Given the description of an element on the screen output the (x, y) to click on. 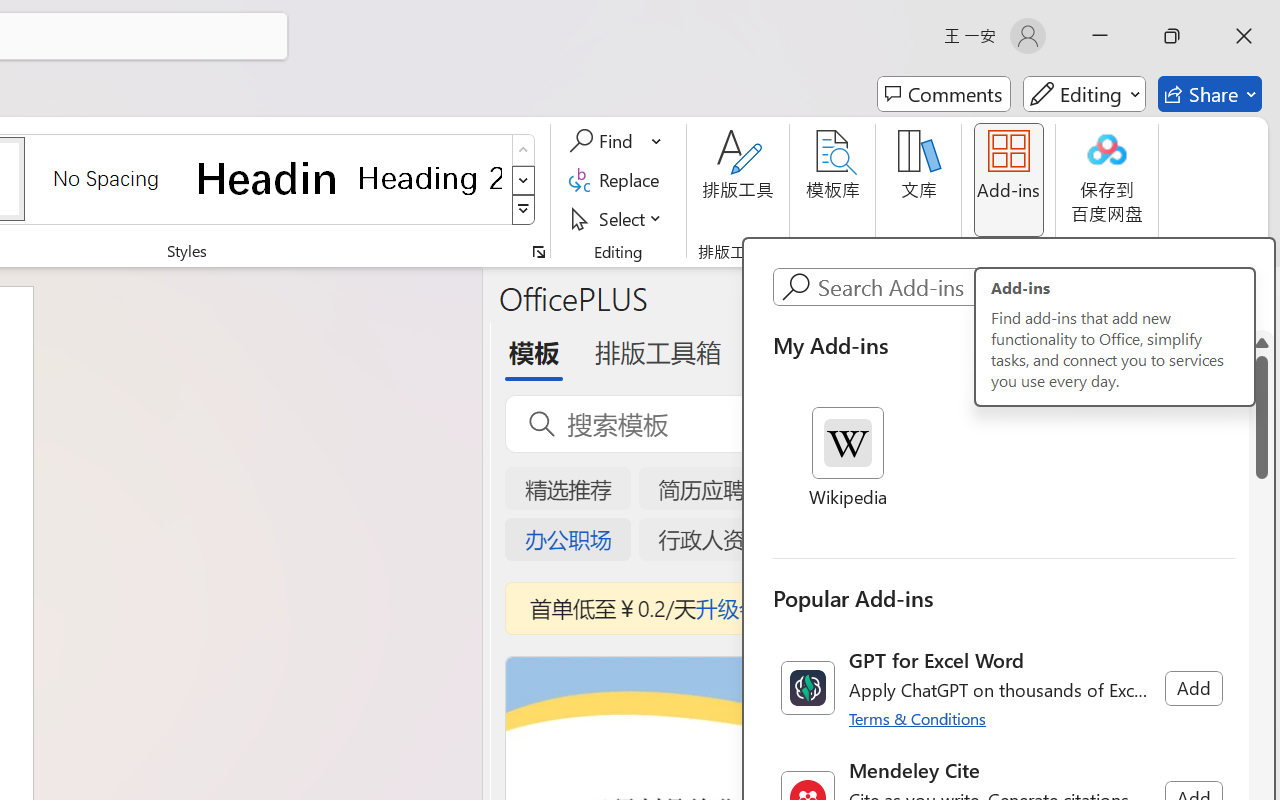
Comments (943, 94)
Find (604, 141)
Mode (1083, 94)
Class: NetUIImage (807, 687)
Replace... (617, 179)
Find (616, 141)
Search Add-ins (1023, 287)
Restore Down (1172, 36)
Share (1210, 94)
